Given the description of an element on the screen output the (x, y) to click on. 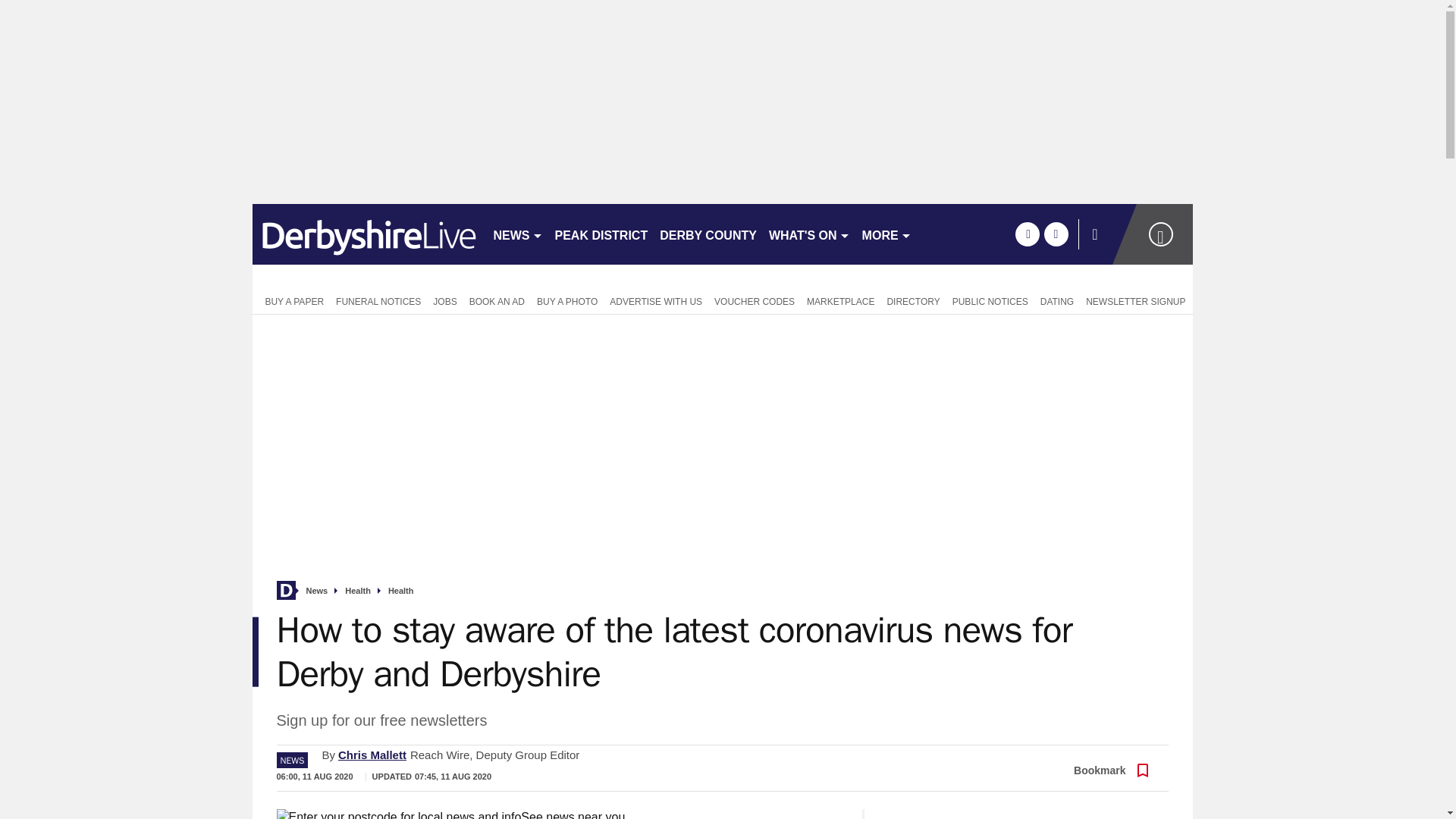
WHAT'S ON (809, 233)
derbytelegraph (365, 233)
MORE (886, 233)
NEWS (517, 233)
twitter (1055, 233)
PEAK DISTRICT (600, 233)
DERBY COUNTY (707, 233)
facebook (1026, 233)
